Given the description of an element on the screen output the (x, y) to click on. 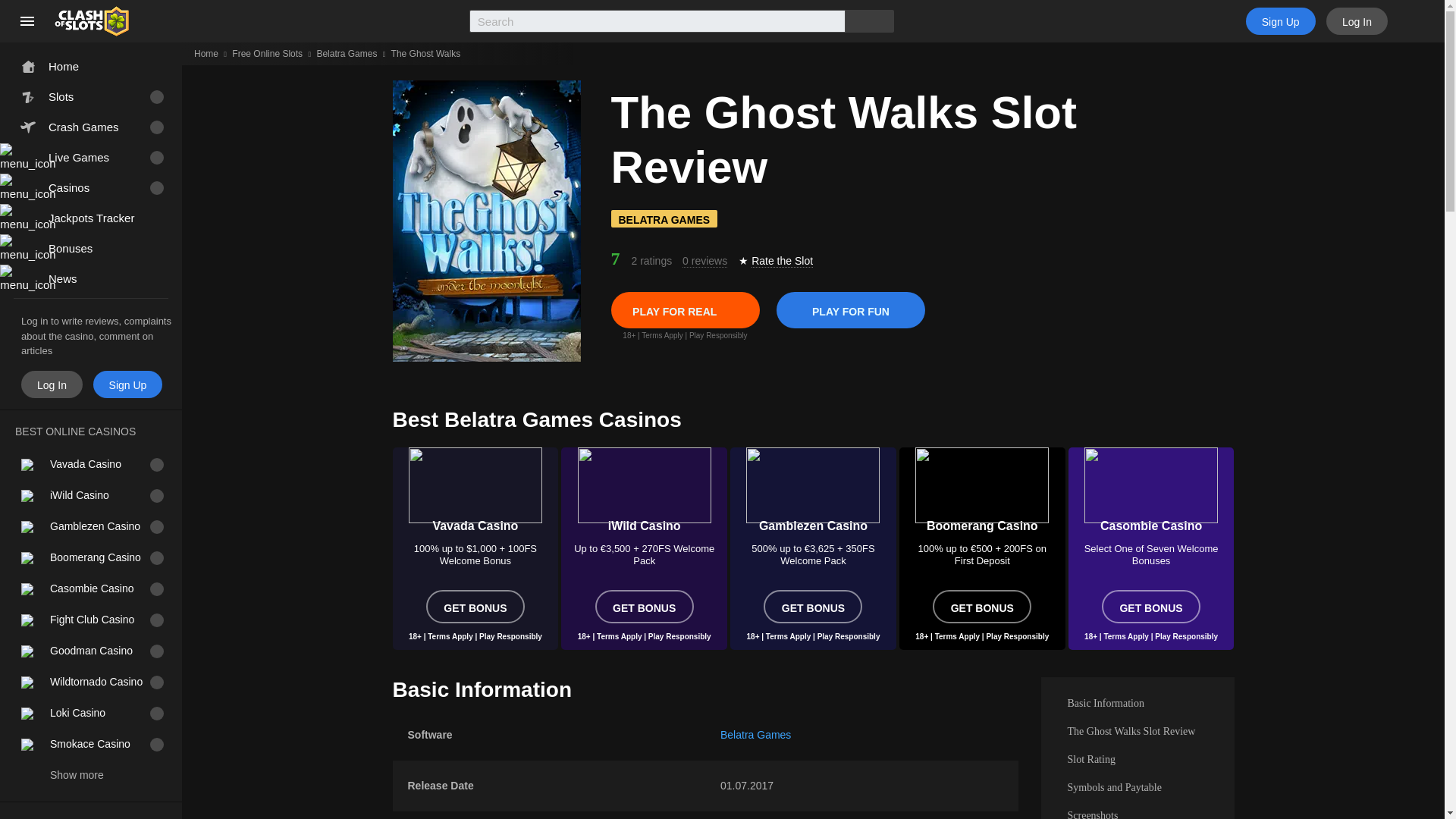
iWild Casino (643, 491)
GET BONUS (644, 606)
Gamblezen Casino (813, 491)
Log In (1356, 21)
Slot Rating (1137, 759)
BELATRA GAMES (664, 218)
Free Online Slots (266, 53)
Home (205, 53)
0 reviews (704, 261)
PLAY FOR REAL (685, 309)
